Given the description of an element on the screen output the (x, y) to click on. 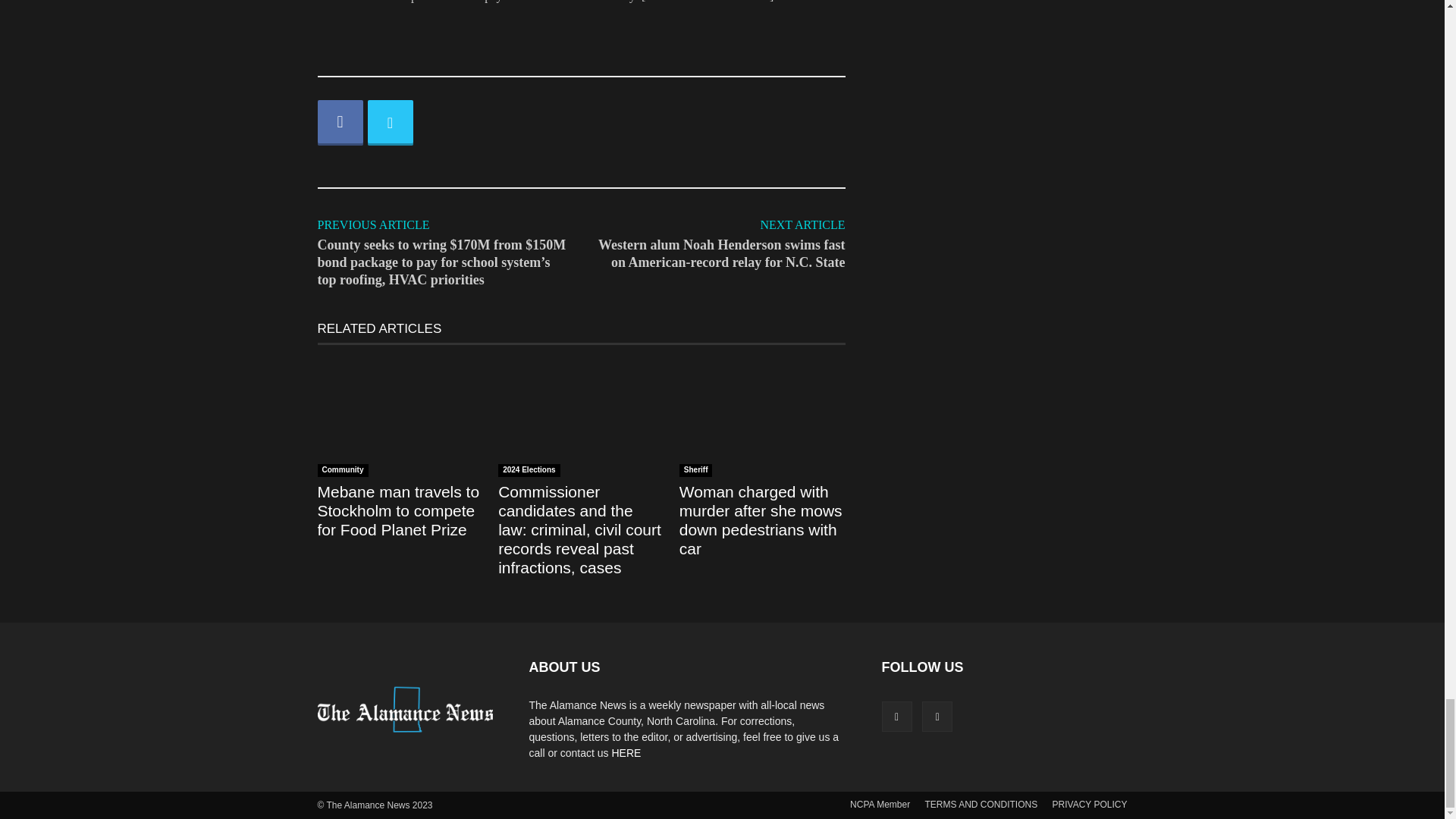
Facebook (339, 122)
Twitter (389, 122)
